Given the description of an element on the screen output the (x, y) to click on. 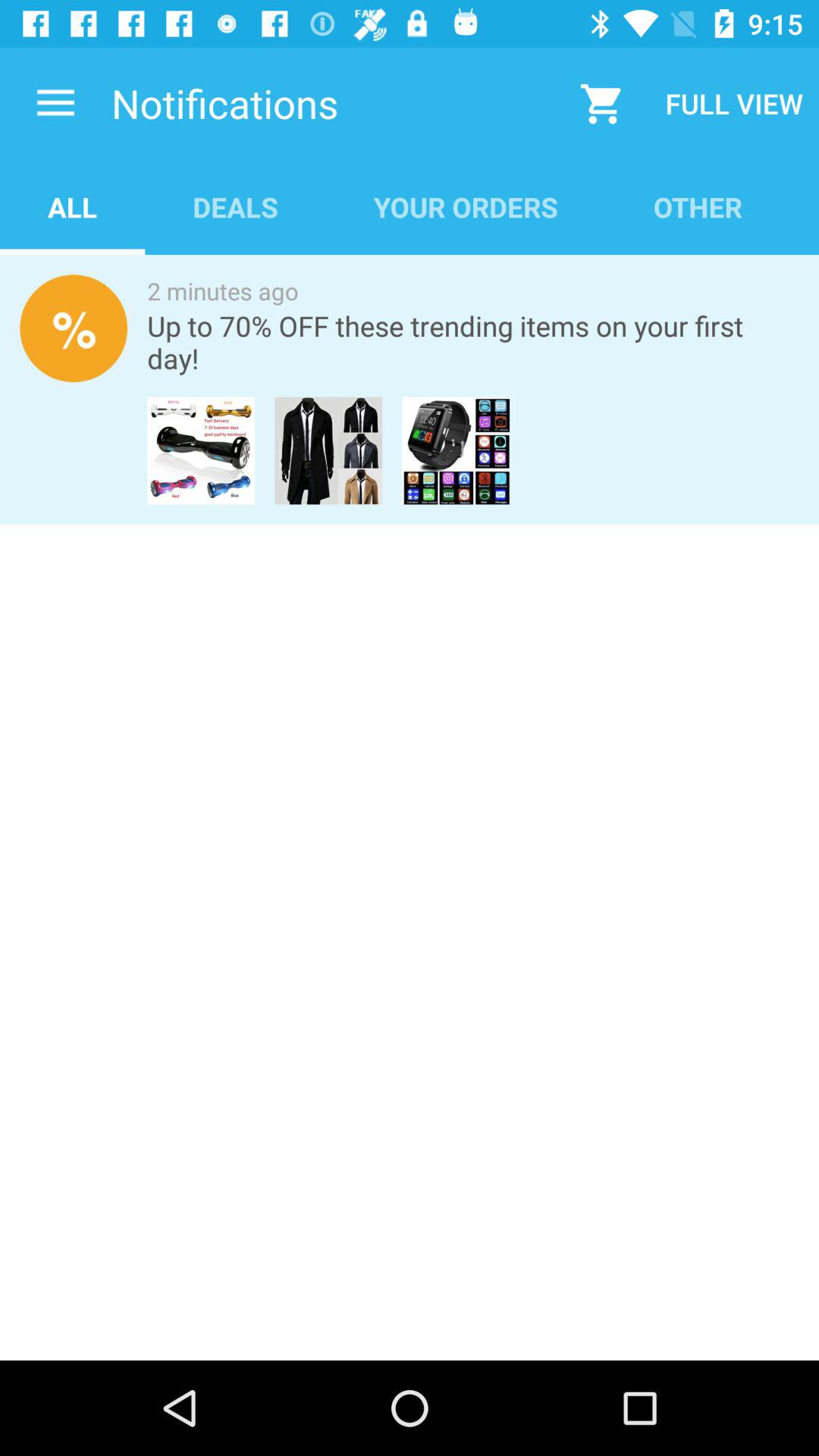
turn off the item to the left of notifications icon (55, 103)
